Given the description of an element on the screen output the (x, y) to click on. 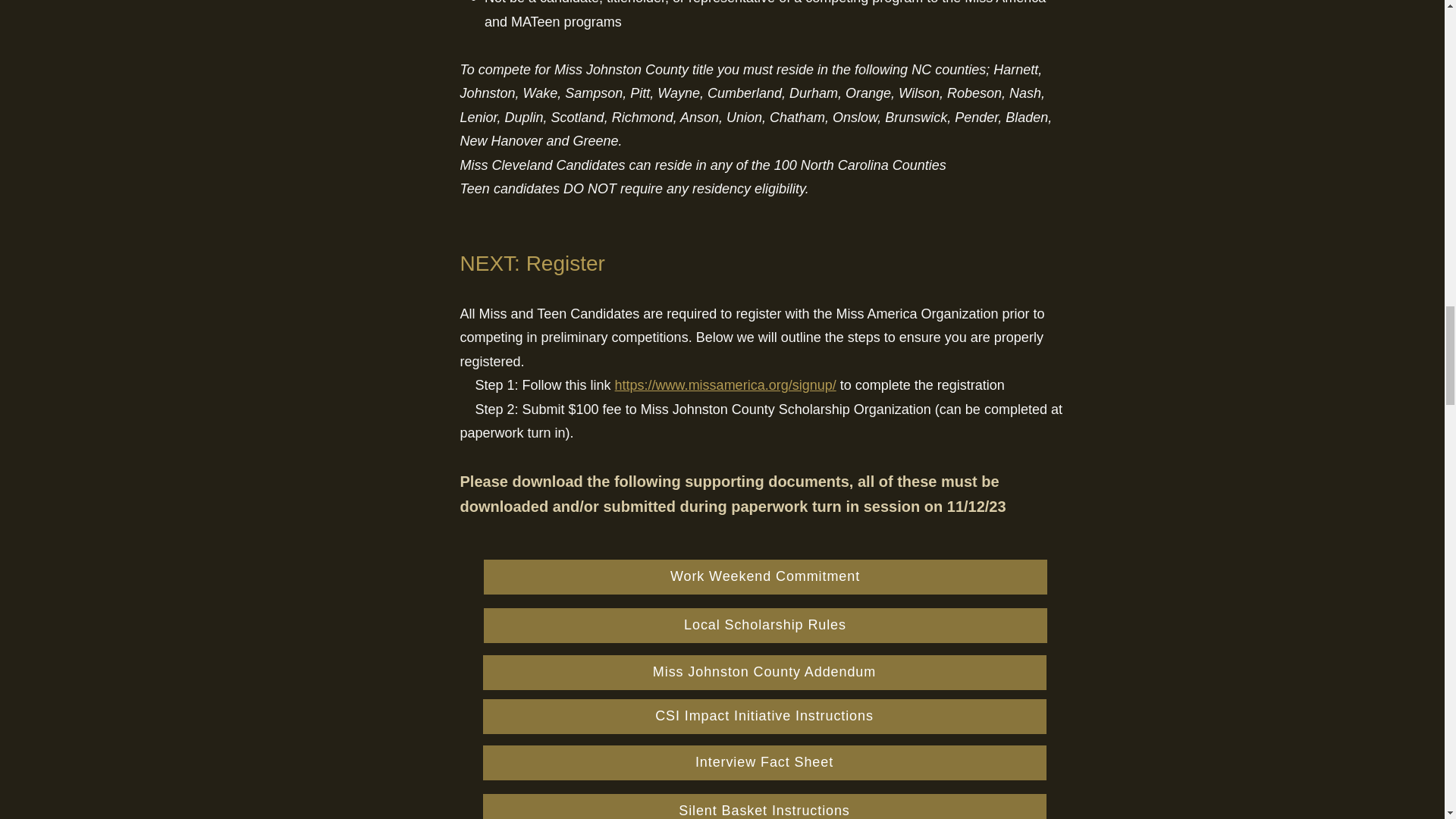
Local Scholarship Rules (764, 625)
Miss Johnston County Addendum (763, 672)
Work Weekend Commitment (764, 576)
CSI Impact Initiative Instructions (763, 716)
Silent Basket Instructions (763, 806)
Interview Fact Sheet (763, 762)
